Given the description of an element on the screen output the (x, y) to click on. 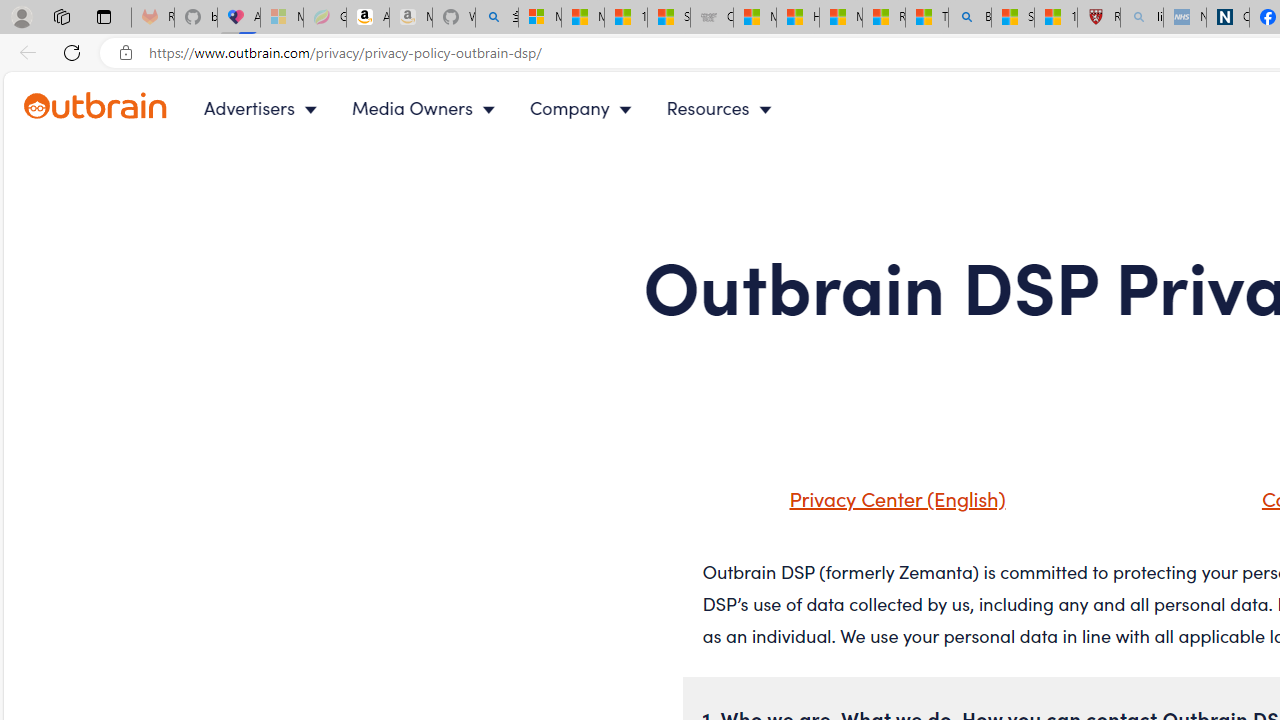
Outbrain logo - link to homepage (118, 107)
Outbrain logo - link to homepage (96, 106)
Company (585, 107)
Stocks - MSN (668, 17)
Asthma Inhalers: Names and Types (238, 17)
Privacy Center (English) (872, 505)
Science - MSN (1013, 17)
12 Popular Science Lies that Must be Corrected (1055, 17)
